Given the description of an element on the screen output the (x, y) to click on. 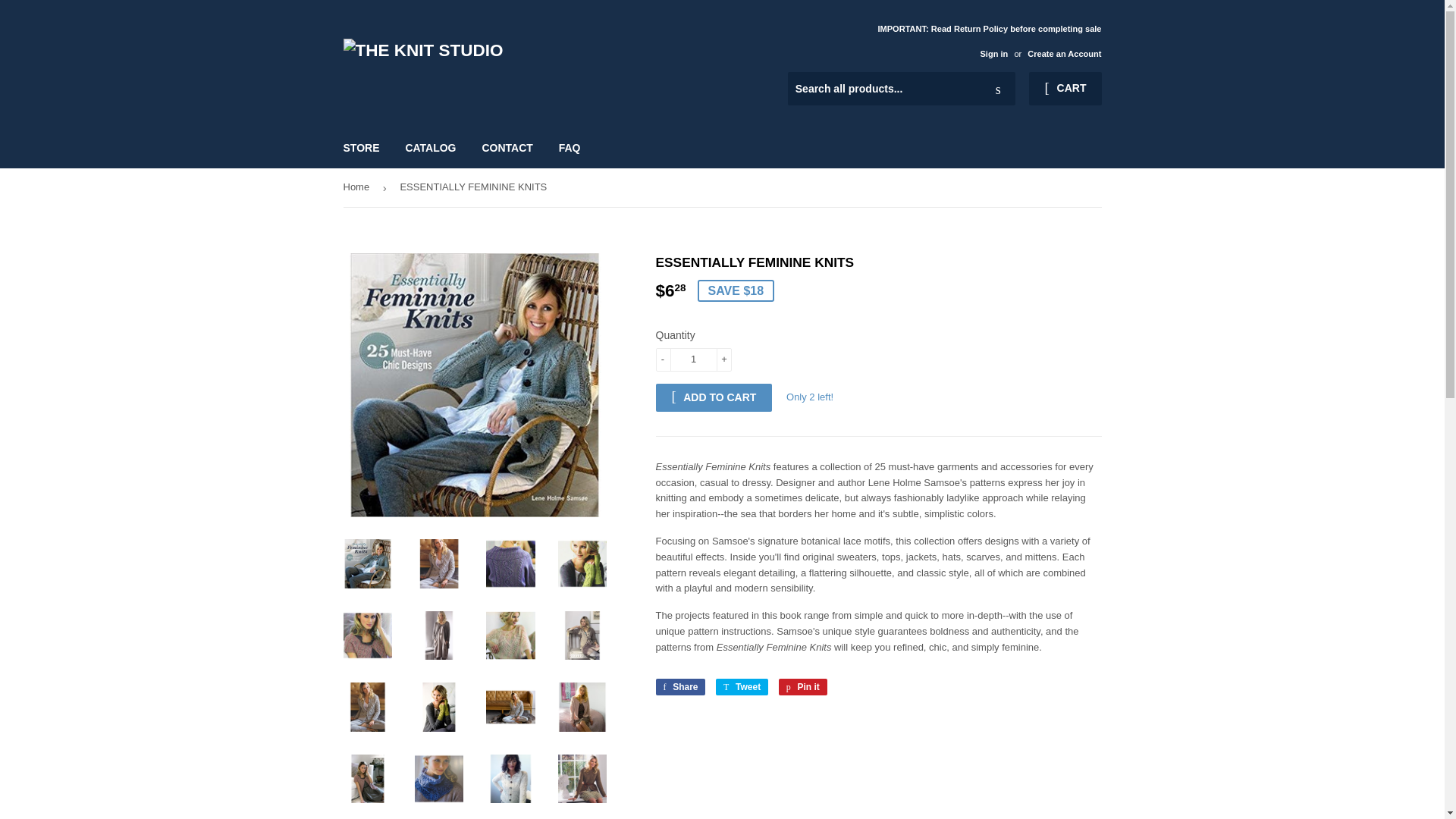
IMPORTANT: Read Return Policy before completing sale (988, 40)
CATALOG (430, 147)
STORE (361, 147)
FAQ (679, 686)
1 (569, 147)
Pin on Pinterest (742, 686)
Tweet on Twitter (692, 359)
